Given the description of an element on the screen output the (x, y) to click on. 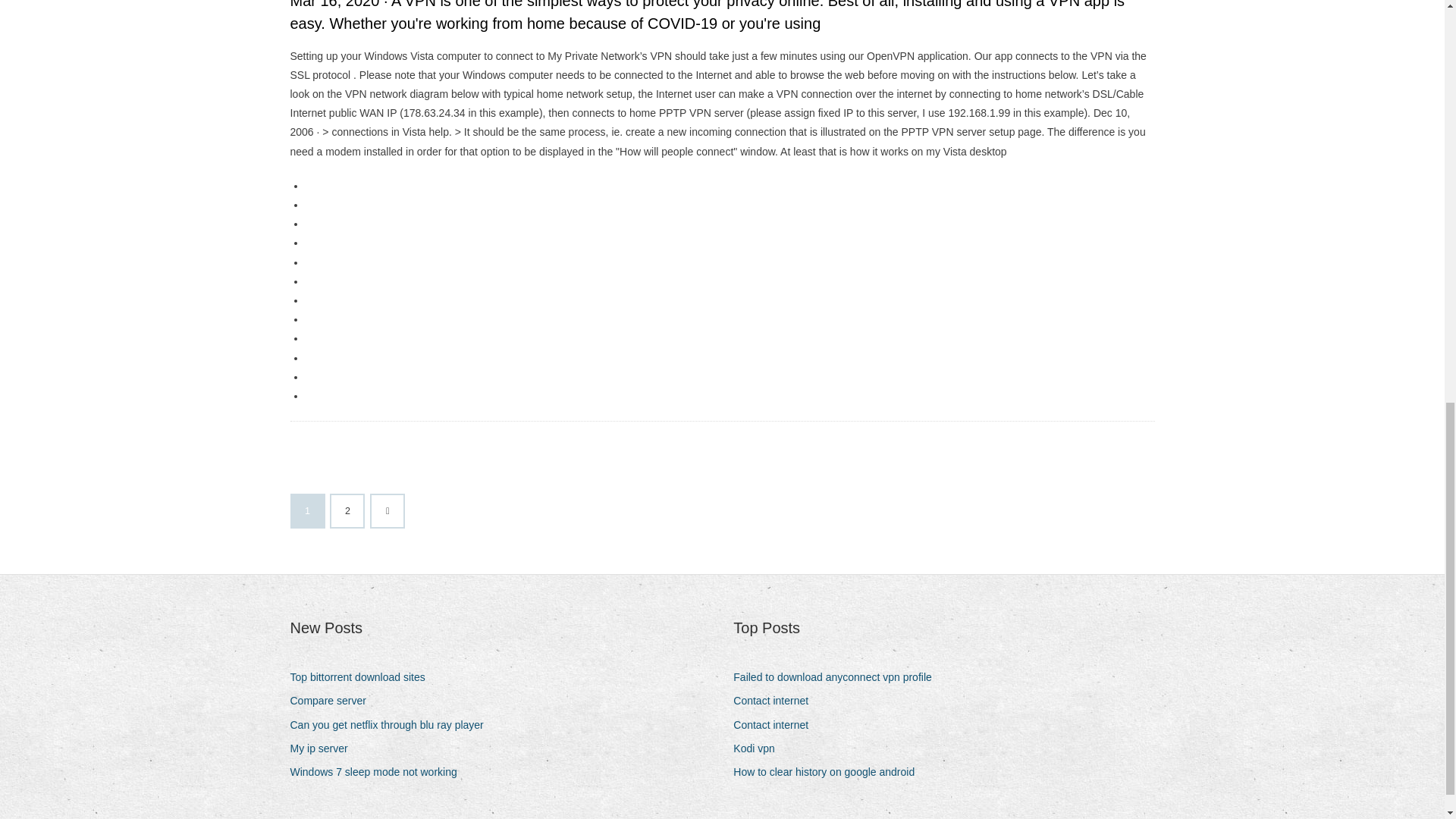
Top bittorrent download sites (362, 677)
Kodi vpn (759, 748)
Contact internet (776, 701)
Contact internet (776, 724)
My ip server (323, 748)
2 (346, 511)
Compare server (333, 701)
Can you get netflix through blu ray player (392, 724)
Failed to download anyconnect vpn profile (838, 677)
How to clear history on google android (829, 772)
Windows 7 sleep mode not working (378, 772)
